Given the description of an element on the screen output the (x, y) to click on. 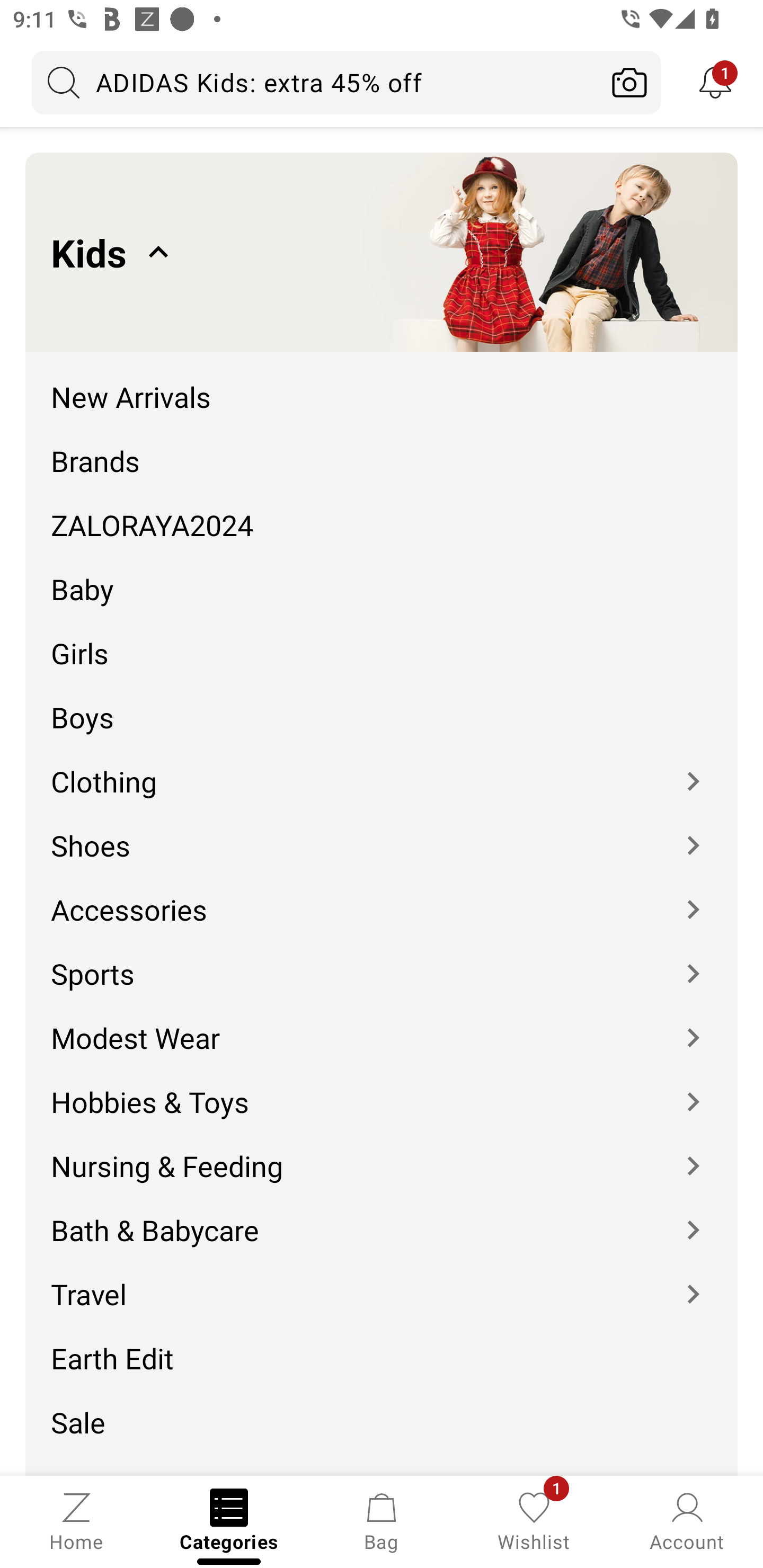
ADIDAS Kids: extra 45% off (314, 82)
Kids (381, 251)
New Arrivals (381, 383)
Brands (381, 447)
ZALORAYA2024 (381, 511)
Baby (381, 576)
Girls (381, 640)
Boys (381, 704)
Clothing (381, 767)
Shoes (381, 831)
Accessories (381, 895)
Sports (381, 960)
Modest Wear (381, 1024)
Hobbies & Toys (381, 1088)
Nursing & Feeding (381, 1153)
Bath & Babycare (381, 1217)
Travel (381, 1281)
Earth Edit (381, 1344)
Sale (381, 1408)
Home (76, 1519)
Bag (381, 1519)
Wishlist, 1 new notification Wishlist (533, 1519)
Account (686, 1519)
